Given the description of an element on the screen output the (x, y) to click on. 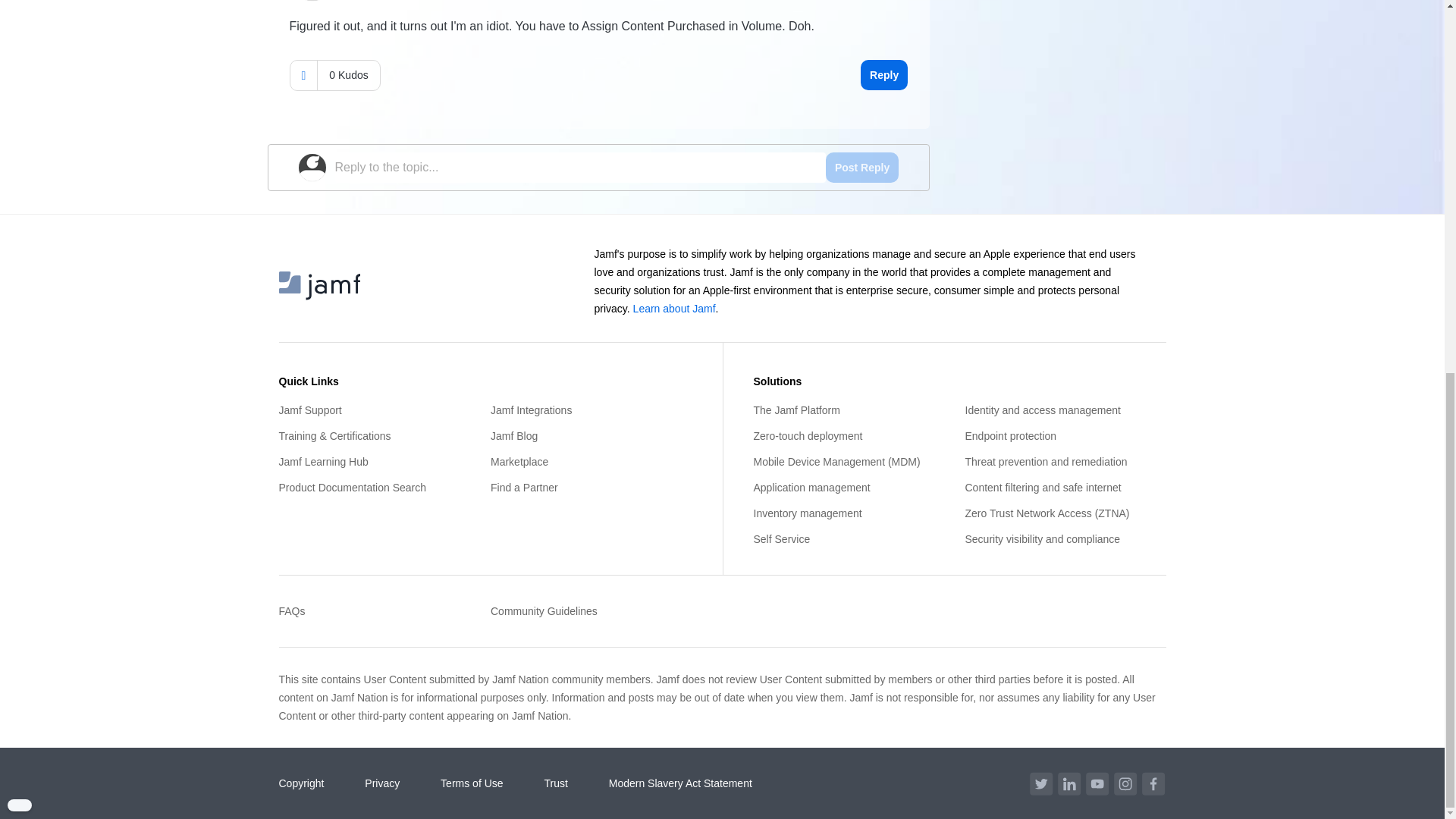
Click here to give kudos to this post. (303, 75)
Reply (883, 74)
The total number of kudos this post has received. (347, 74)
sinclake (311, 0)
Post Reply (861, 167)
